Given the description of an element on the screen output the (x, y) to click on. 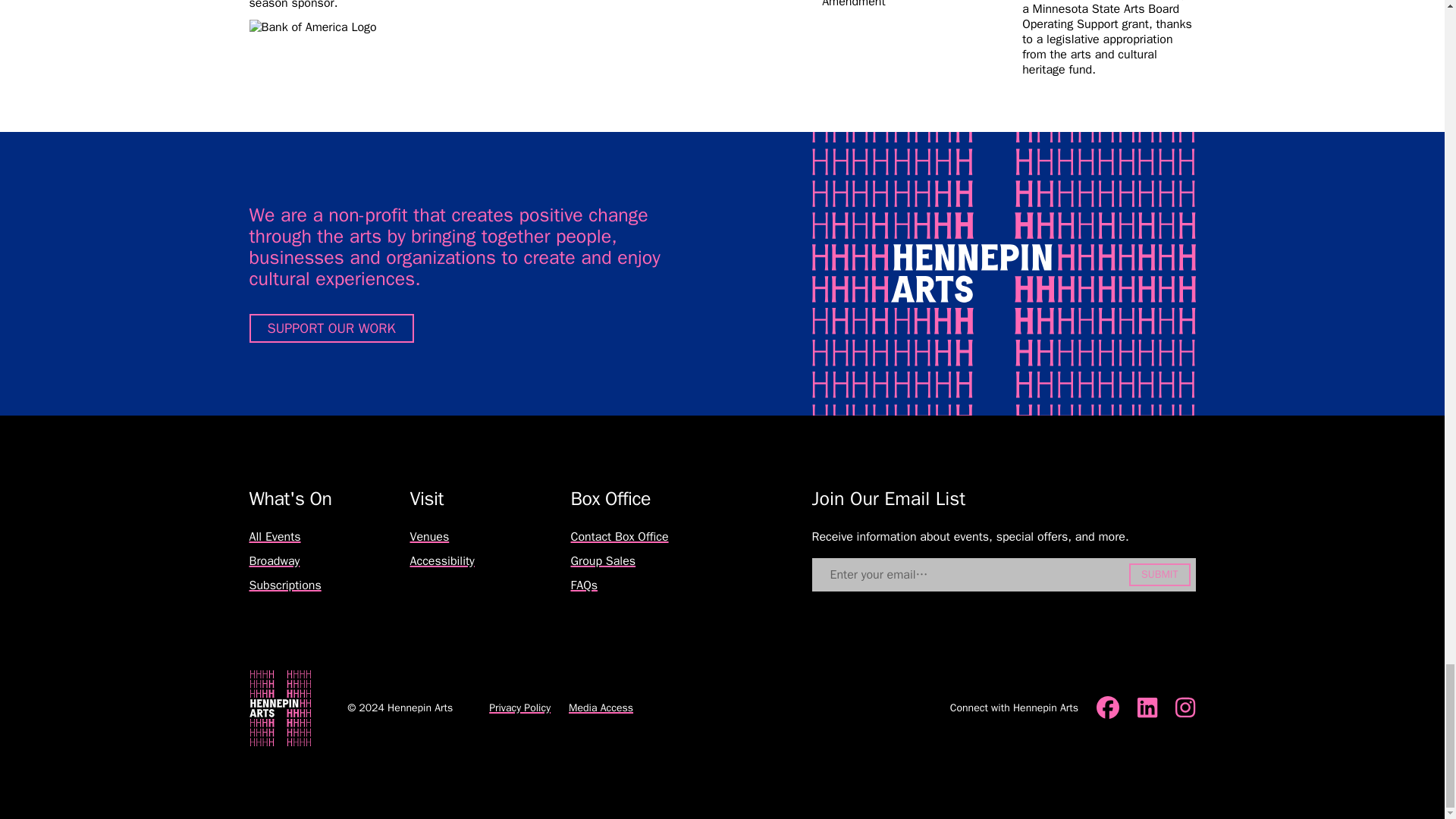
Venues (428, 536)
Subscriptions (284, 585)
SUPPORT OUR WORK (330, 328)
Broadway (273, 560)
All Events (273, 536)
